Given the description of an element on the screen output the (x, y) to click on. 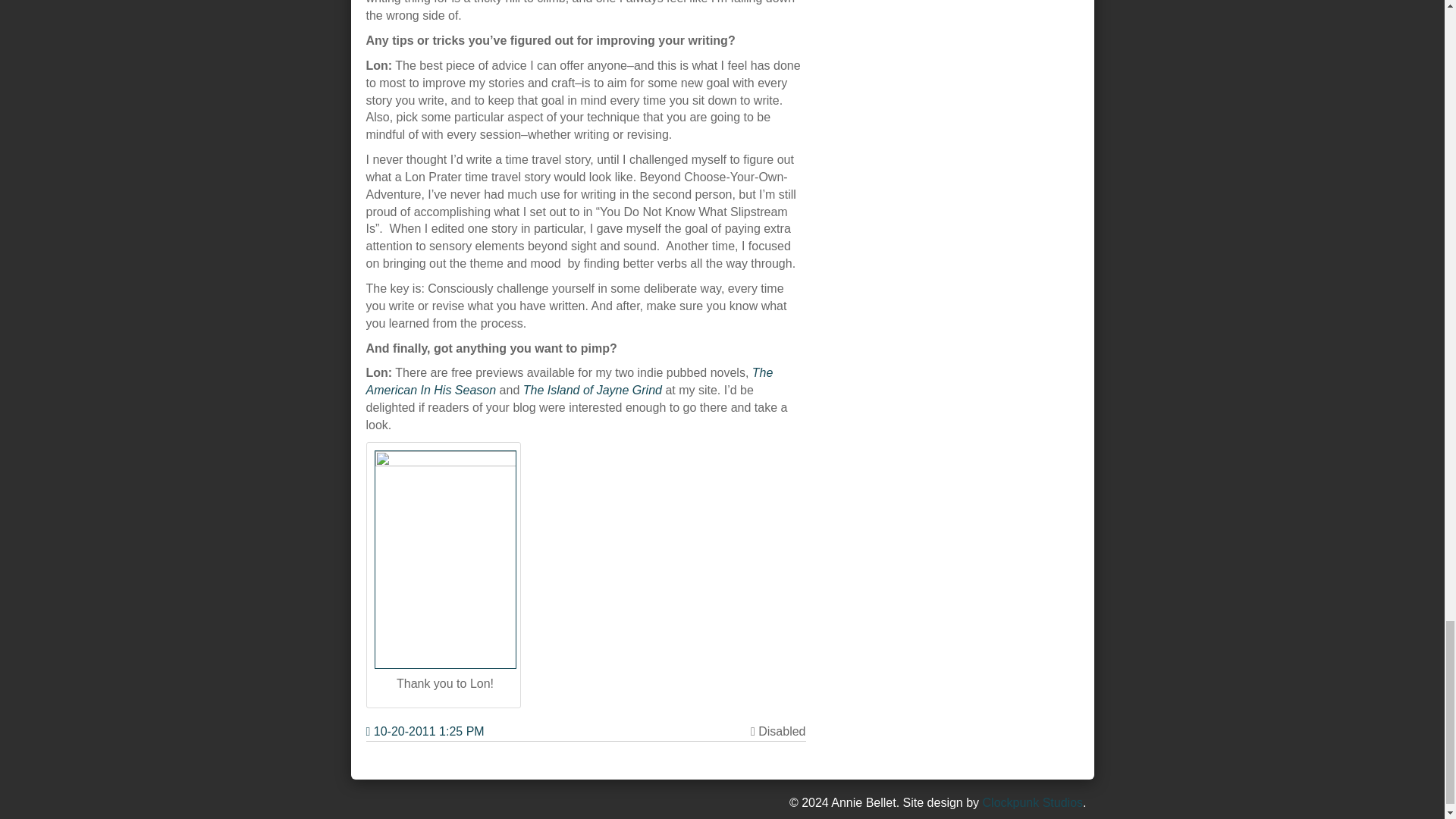
10-20-2011 1:25 PM (424, 732)
The Island of Jayne Grind (592, 390)
The American In His Season (569, 381)
